Given the description of an element on the screen output the (x, y) to click on. 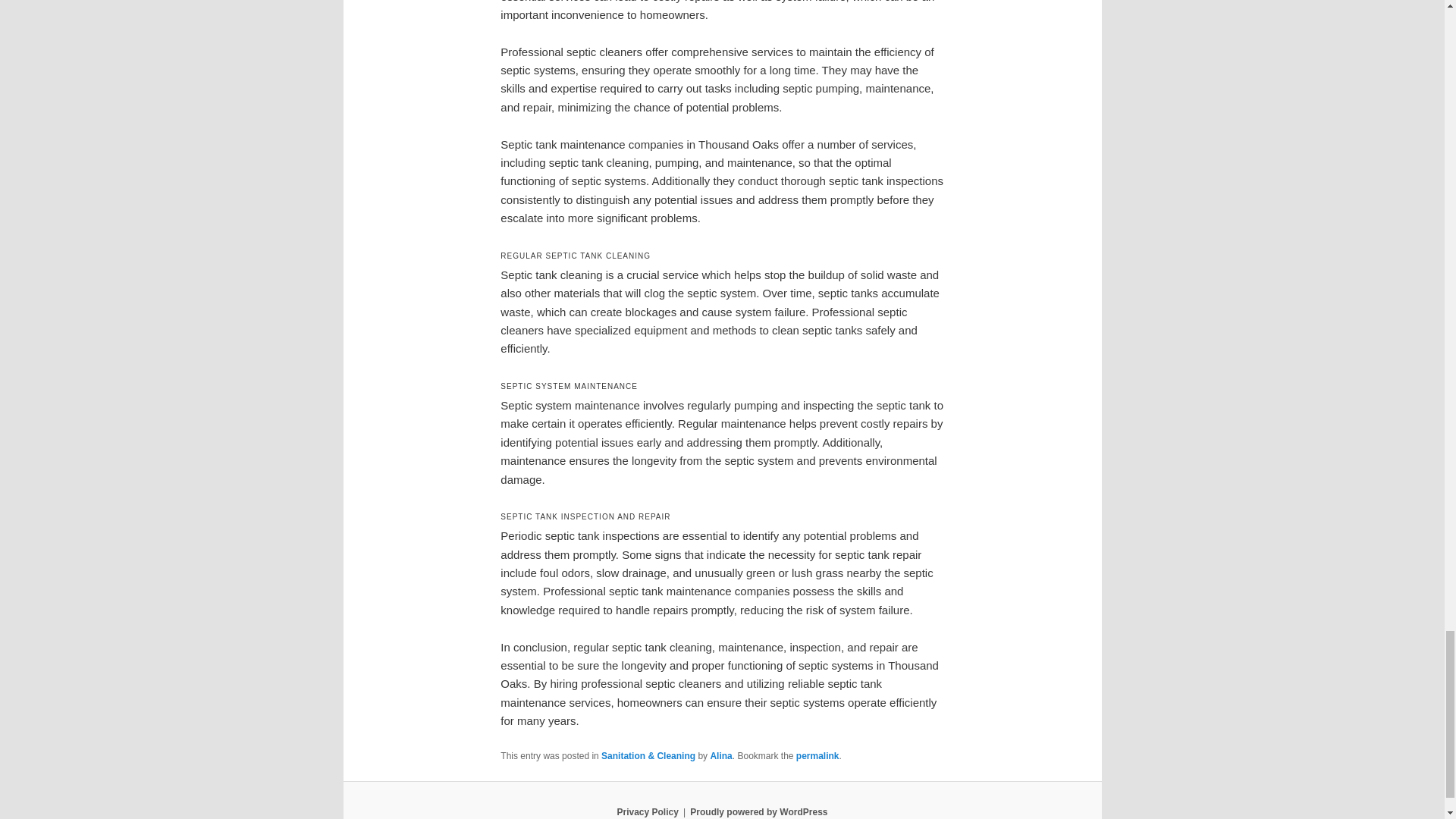
Privacy Policy (646, 811)
Alina (721, 756)
Semantic Personal Publishing Platform (758, 811)
permalink (818, 756)
Proudly powered by WordPress (758, 811)
